Given the description of an element on the screen output the (x, y) to click on. 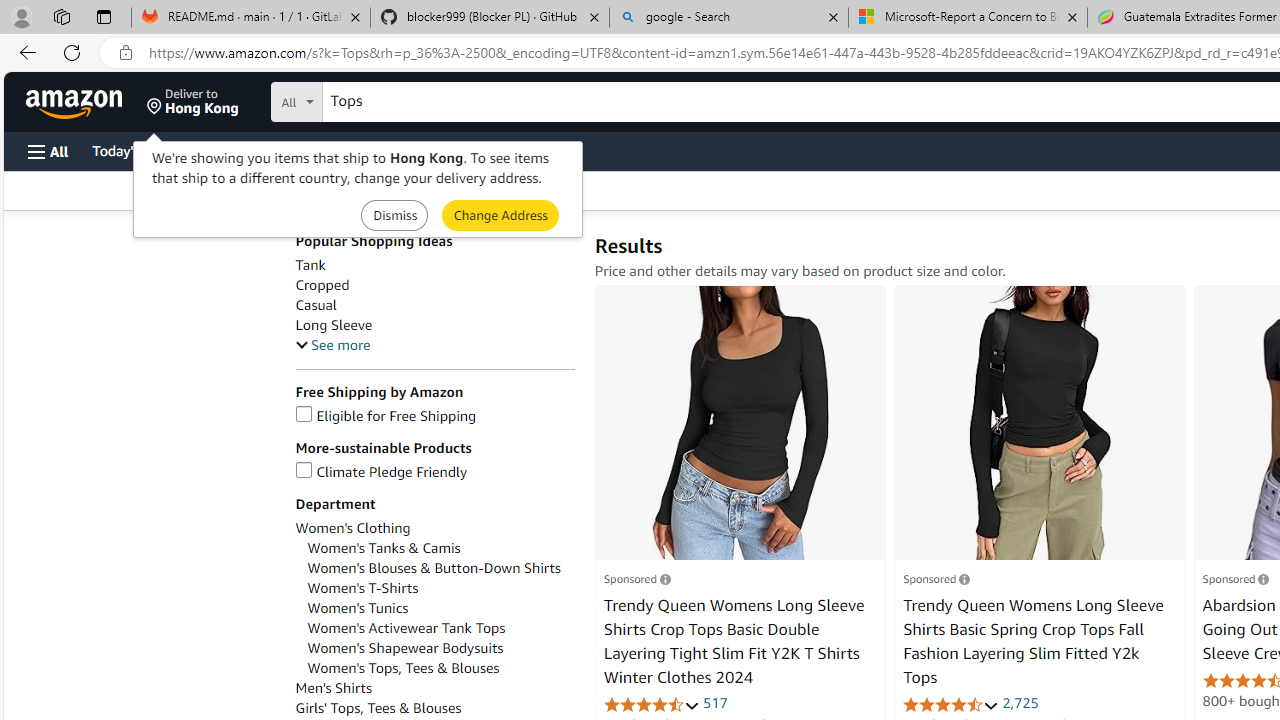
Long Sleeve (434, 325)
Tank (310, 265)
Today's Deals (134, 150)
Climate Pledge Friendly (381, 471)
Search in (371, 99)
Eligible for Free Shipping (385, 416)
Eligible for Free Shipping (434, 416)
2,725 (1020, 702)
